Given the description of an element on the screen output the (x, y) to click on. 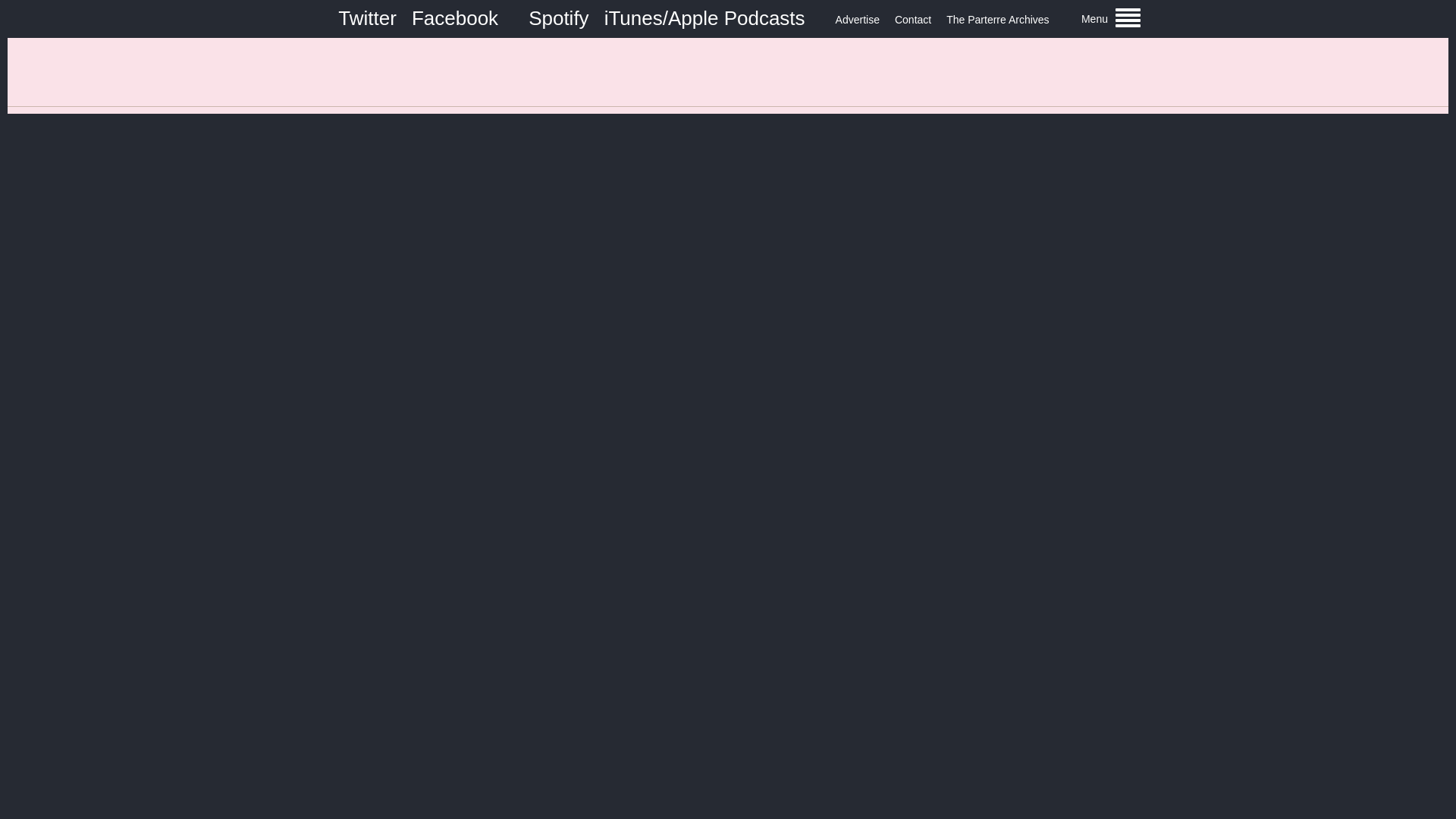
Home (728, 71)
Advertise (857, 19)
Spotify (558, 17)
Twitter (366, 17)
The Parterre Archives (997, 19)
Facebook (454, 17)
Menu (1110, 18)
Contact (913, 19)
